Given the description of an element on the screen output the (x, y) to click on. 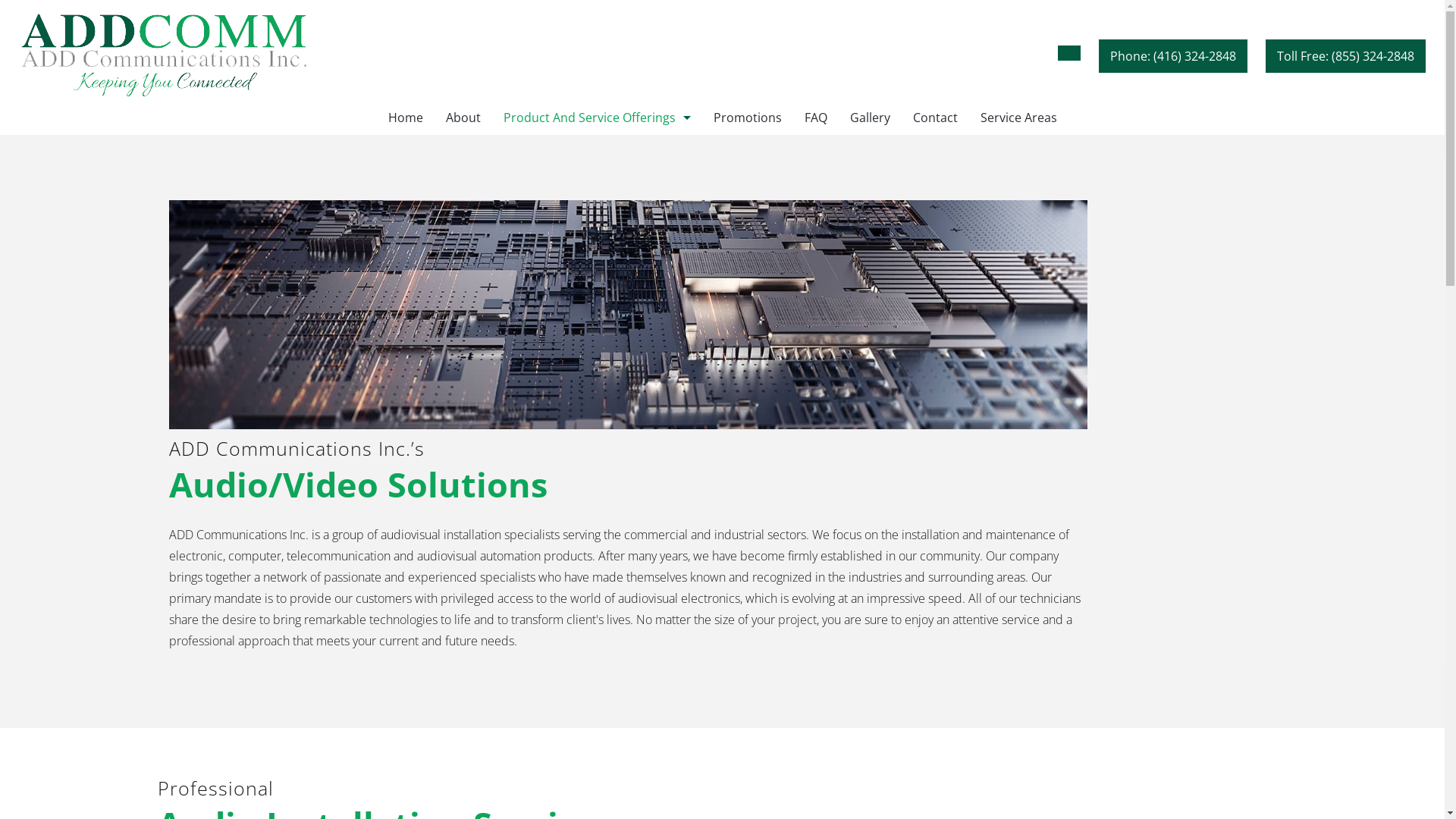
Structured Network Cabling Element type: text (596, 220)
Gallery Element type: text (869, 117)
Security Alarm Systems And Monitoring Element type: text (596, 254)
HOSTED IP / VoIP Systems Element type: text (596, 186)
Wireless And Paging Solutions Element type: text (596, 356)
Audio/Video Solutions Element type: text (596, 390)
Product And Service Offerings Element type: text (596, 117)
Racking, Raceway And Conduit Solutions Element type: text (596, 424)
Home Element type: text (404, 117)
About Element type: text (462, 117)
CCTV / Camera Solutions Element type: text (596, 322)
Promotions Element type: text (747, 117)
UPS Battery Backup Element type: text (596, 459)
Phone: (416) 324-2848 Element type: text (1172, 55)
Contact Element type: text (934, 117)
Service Areas Element type: text (1018, 117)
Toll Free: (855) 324-2848 Element type: text (1345, 55)
FAQ Element type: text (815, 117)
Telephone And Voicemail Systems Element type: text (596, 151)
Access Control And Intercom Systems Element type: text (596, 288)
Follow us on Google Maps Element type: hover (1068, 52)
